Given the description of an element on the screen output the (x, y) to click on. 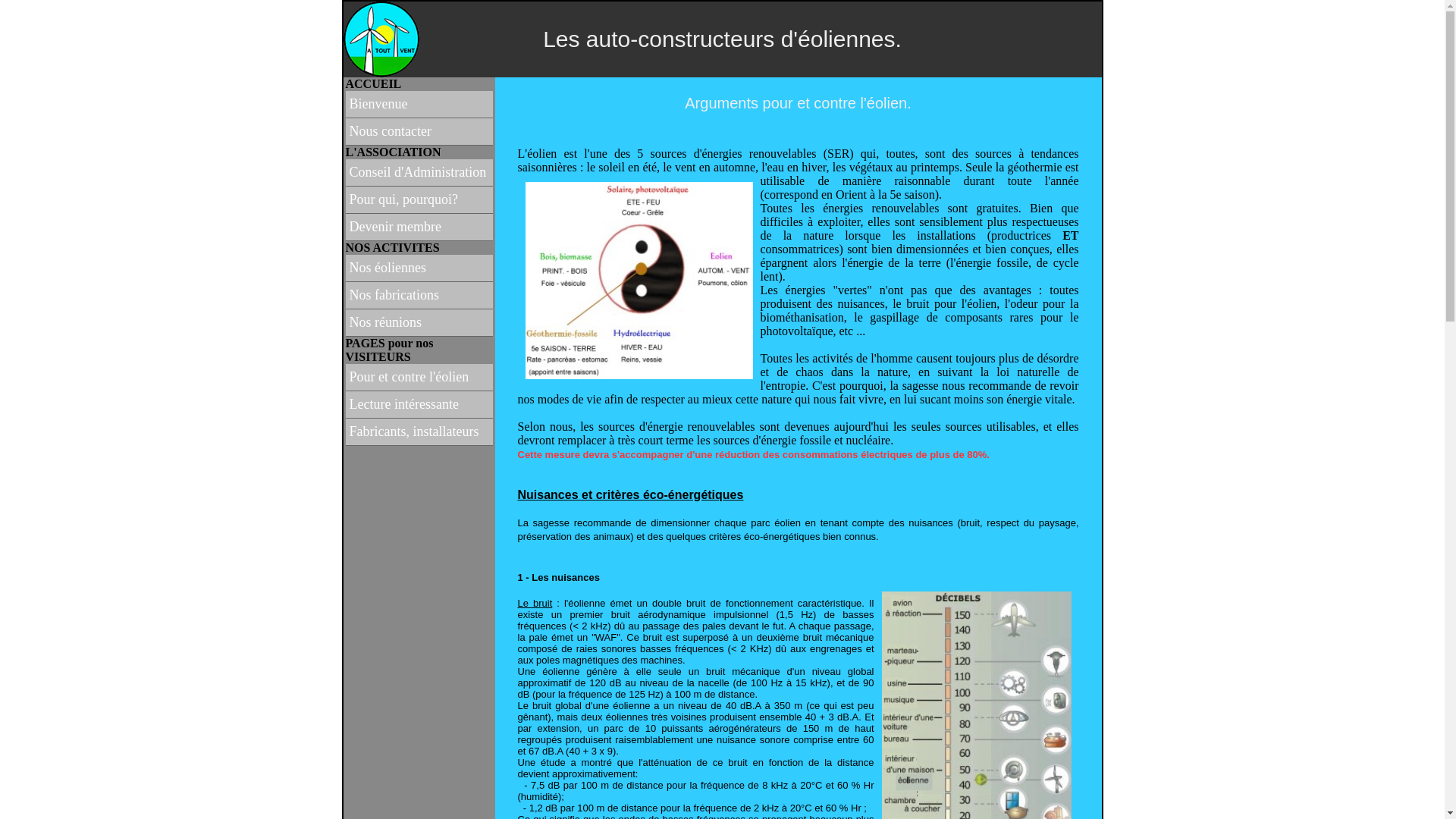
Pour qui, pourquoi? Element type: text (418, 199)
Nous contacter Element type: text (418, 131)
Conseil d'Administration Element type: text (418, 172)
Le logo de l'association Element type: hover (380, 39)
Nos fabrications Element type: text (418, 295)
Fabricants, installateurs Element type: text (418, 431)
Devenir membre Element type: text (418, 227)
Bienvenue Element type: text (418, 104)
